Given the description of an element on the screen output the (x, y) to click on. 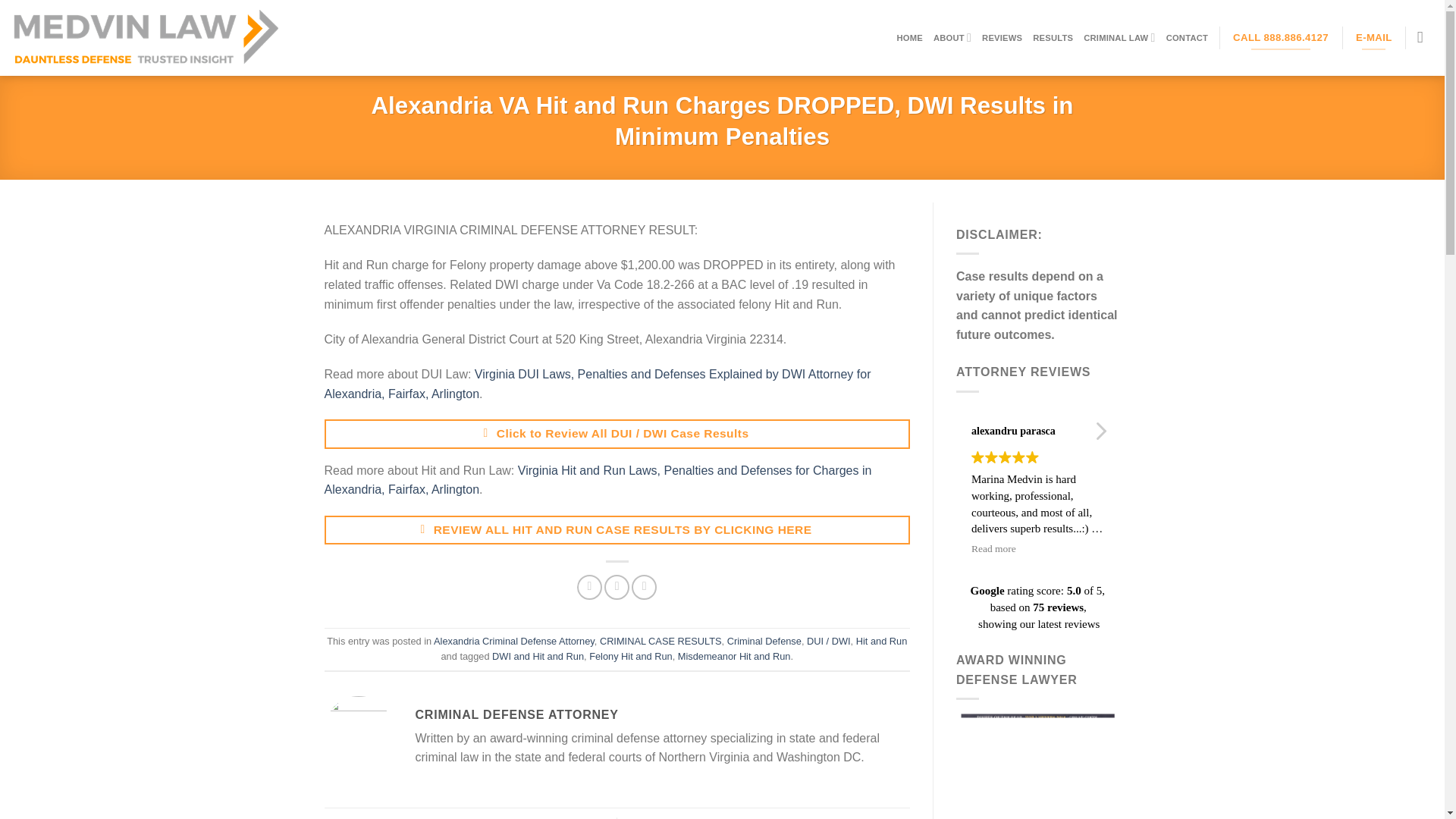
CRIMINAL CASE RESULTS (660, 641)
CRIMINAL LAW (1118, 37)
Criminal Defense (764, 641)
ABOUT (952, 37)
CONTACT (1187, 37)
Alexandria Criminal Defense Attorney (513, 641)
Share on Facebook (589, 586)
E-MAIL (1374, 37)
